Given the description of an element on the screen output the (x, y) to click on. 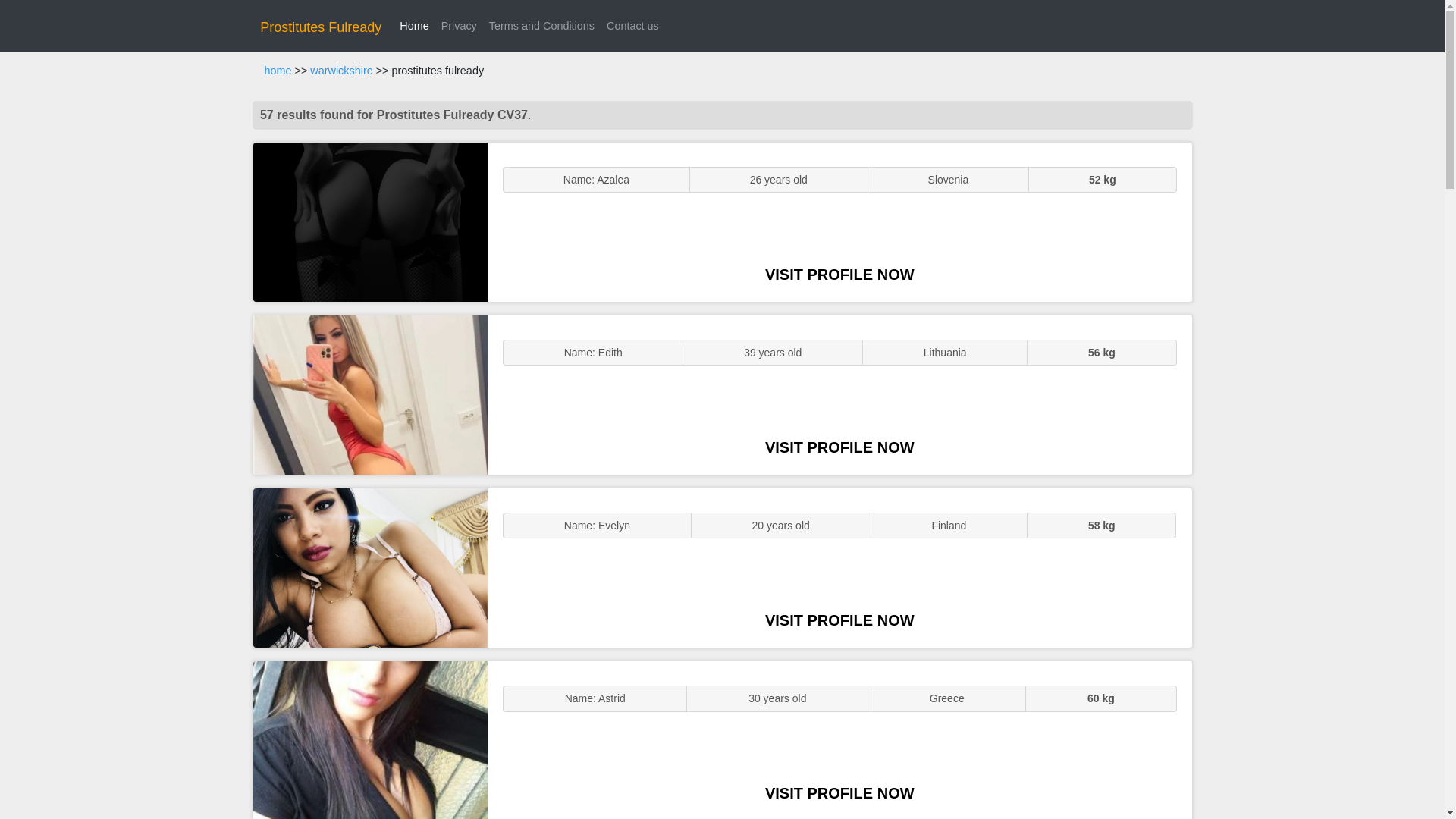
VISIT PROFILE NOW (839, 446)
GFE (370, 395)
Prostitutes Fulready (320, 27)
warwickshire (341, 70)
home (277, 70)
Privacy (459, 25)
VISIT PROFILE NOW (839, 274)
 ENGLISH STUNNER (370, 222)
Sluts (370, 739)
VISIT PROFILE NOW (839, 792)
